Given the description of an element on the screen output the (x, y) to click on. 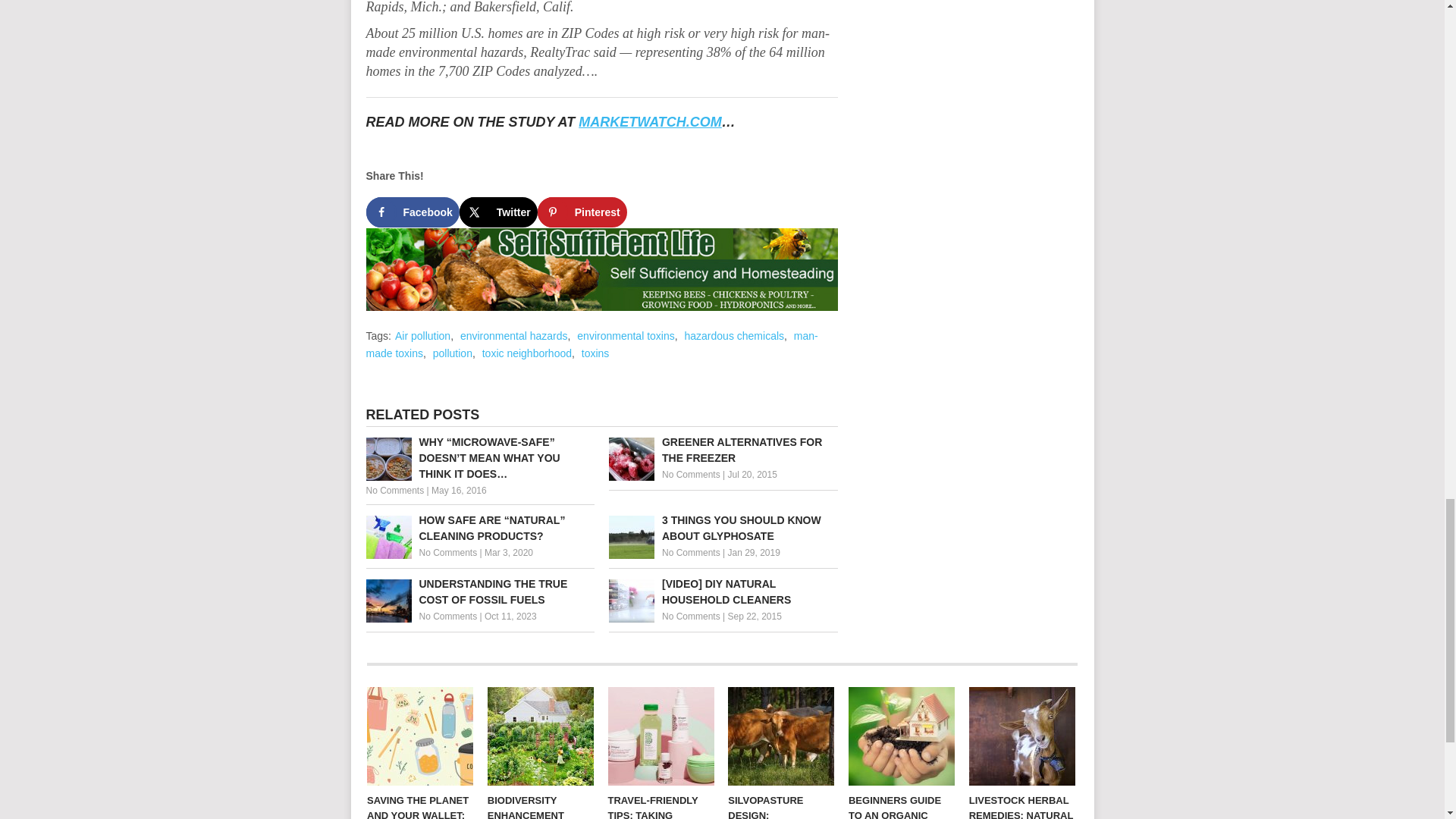
Pinterest (582, 212)
MARKETWATCH.COM (650, 120)
Share on Facebook (411, 212)
Twitter (498, 212)
hazardous chemicals (734, 336)
Facebook (411, 212)
environmental toxins (625, 336)
environmental hazards (513, 336)
Air pollution (421, 336)
